Given the description of an element on the screen output the (x, y) to click on. 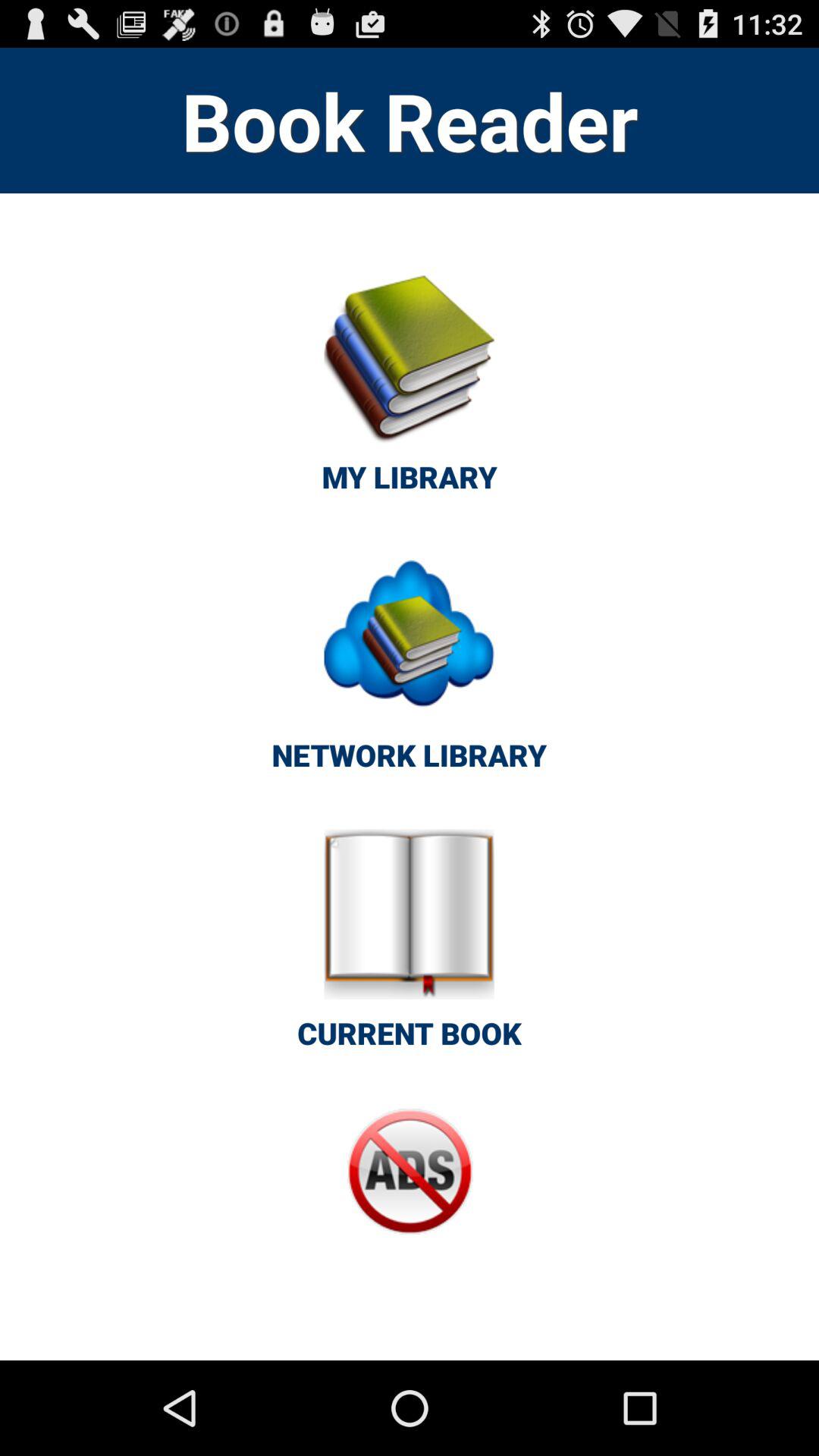
scroll to the network library (408, 670)
